Given the description of an element on the screen output the (x, y) to click on. 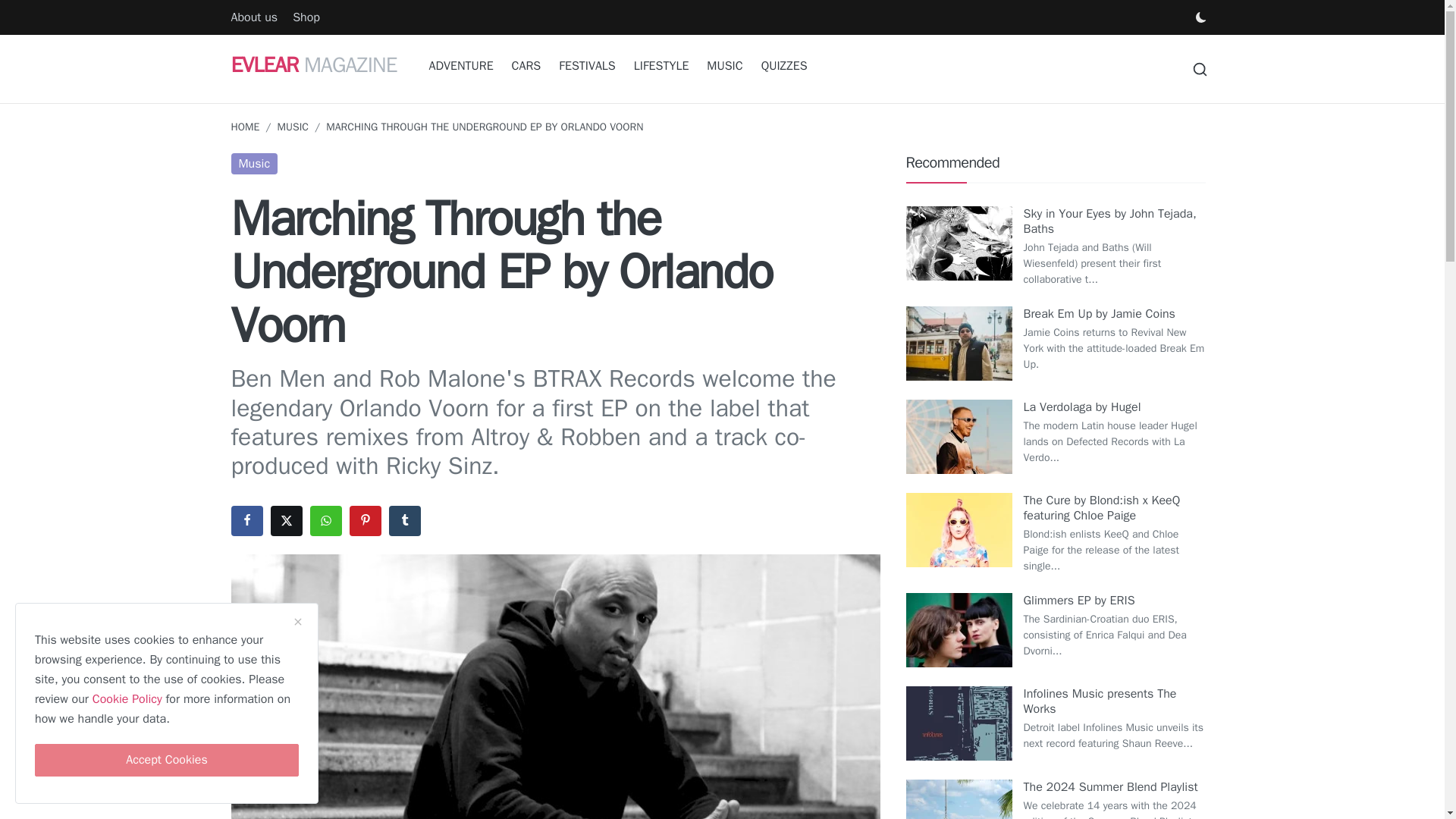
Festivals (587, 66)
MUSIC (724, 66)
Lifestyle (661, 66)
MUSIC (293, 126)
ADVENTURE (461, 66)
FESTIVALS (587, 66)
Adventure (461, 66)
EVLEAR MAGAZINE (313, 64)
dark (1200, 17)
QUIZZES (784, 66)
LIFESTYLE (661, 66)
Shop (306, 17)
Quizzes (784, 66)
About us (254, 17)
Music (724, 66)
